Given the description of an element on the screen output the (x, y) to click on. 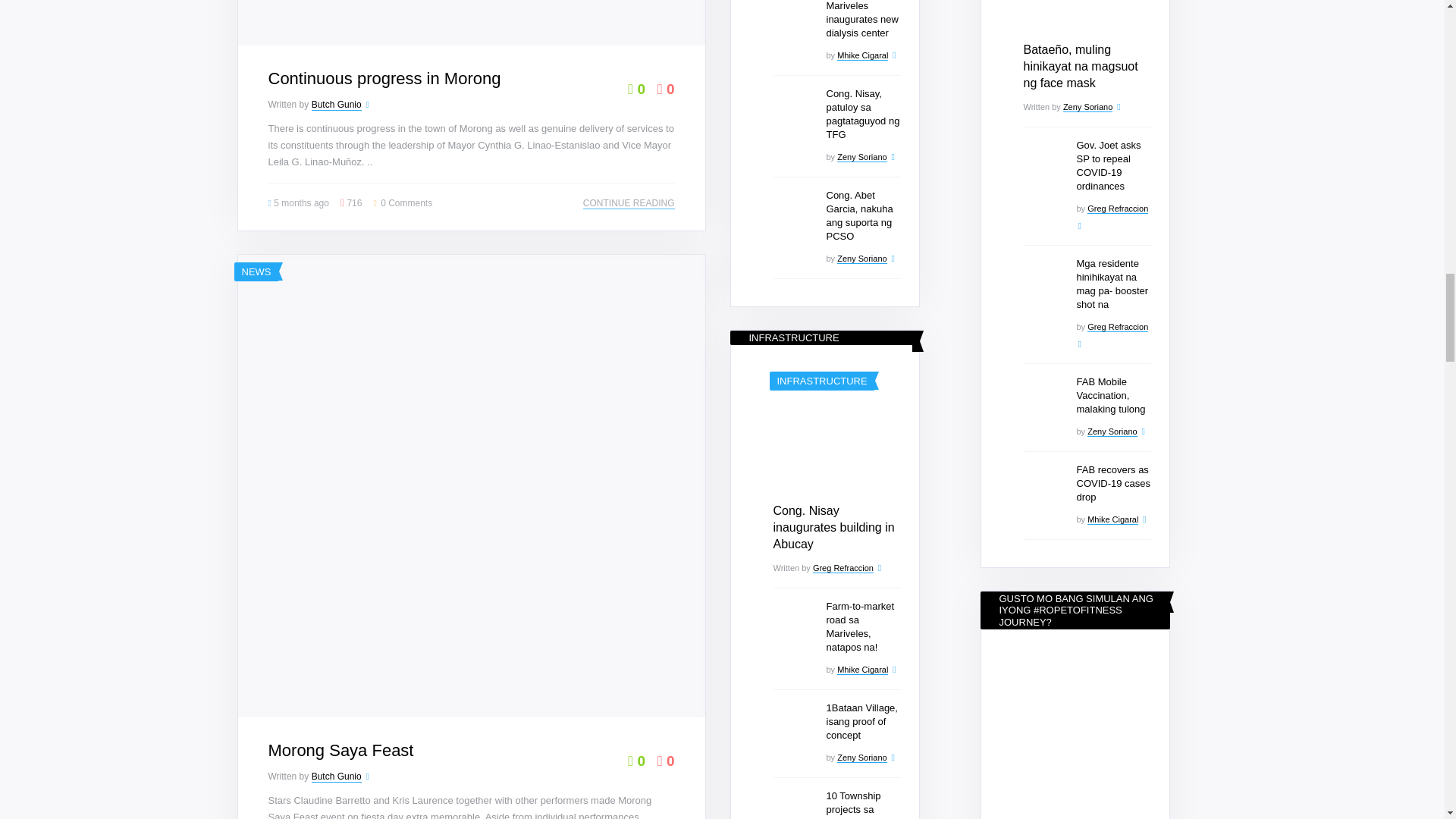
View all posts in News (255, 271)
Posts by Butch Gunio (336, 104)
Posts by Butch Gunio (336, 776)
